Given the description of an element on the screen output the (x, y) to click on. 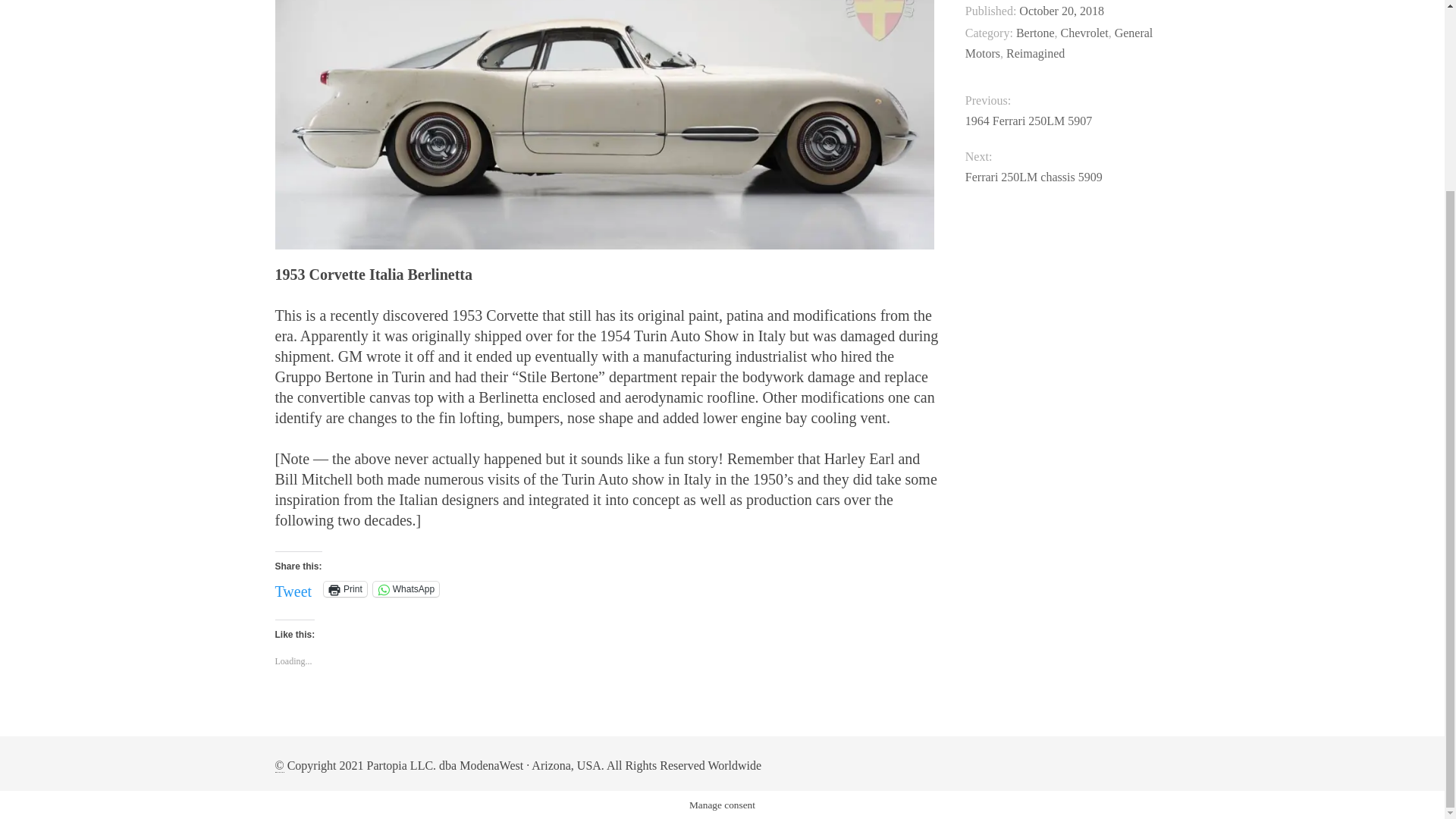
Click to print (344, 589)
Tweet (293, 588)
Chevrolet (1084, 32)
WhatsApp (405, 589)
Ferrari 250LM chassis 5909 (1067, 177)
1964 Ferrari 250LM 5907 (1067, 120)
Print (344, 589)
Click to share on WhatsApp (405, 589)
Reimagined (1035, 52)
Bertone (1035, 32)
General Motors (1059, 42)
